Given the description of an element on the screen output the (x, y) to click on. 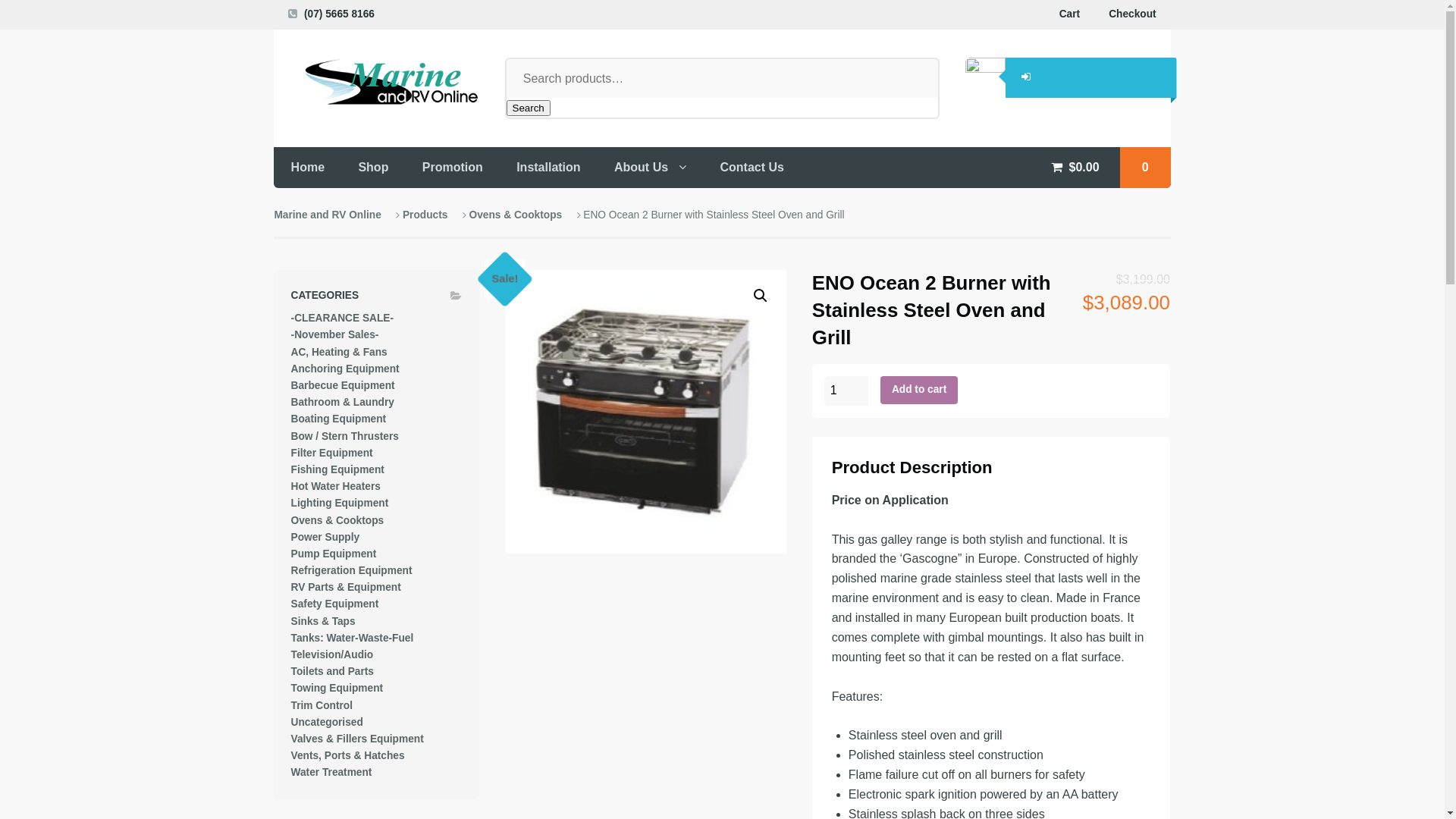
Cart Element type: text (1069, 14)
Valves & Fillers Equipment Element type: text (357, 738)
Toilets and Parts Element type: text (332, 671)
Pump Equipment Element type: text (333, 553)
Contact Us Element type: text (751, 167)
Installation Element type: text (548, 167)
Search Element type: text (528, 108)
Power Supply Element type: text (325, 536)
Uncategorised Element type: text (327, 722)
$0.00
0 Element type: text (1101, 167)
Checkout Element type: text (1132, 14)
About Us Element type: text (649, 167)
Bathroom & Laundry Element type: text (342, 401)
(07) 5665 8166 Element type: text (339, 13)
Bow / Stern Thrusters Element type: text (344, 436)
Refrigeration Equipment Element type: text (351, 570)
Anchoring Equipment Element type: text (345, 368)
Products Element type: text (424, 214)
-CLEARANCE SALE- Element type: text (342, 317)
-November Sales- Element type: text (335, 334)
Eno Ocean 2 Element type: hover (645, 410)
Boating Equipment Element type: text (338, 418)
Vents, Ports & Hatches Element type: text (347, 755)
Marine and RV Online Element type: text (326, 214)
Towing Equipment Element type: text (337, 687)
Home Element type: text (307, 167)
Add to cart Element type: text (918, 390)
Ovens & Cooktops Element type: text (515, 214)
Barbecue Equipment Element type: text (343, 385)
Hot Water Heaters Element type: text (335, 486)
Sinks & Taps Element type: text (323, 621)
AC, Heating & Fans Element type: text (339, 351)
Trim Control Element type: text (321, 705)
Fishing Equipment Element type: text (337, 469)
Safety Equipment Element type: text (335, 603)
Shop Element type: text (372, 167)
Qty Element type: hover (846, 390)
Filter Equipment Element type: text (332, 452)
Ovens & Cooktops Element type: text (337, 520)
Water Treatment Element type: text (331, 772)
RV Parts & Equipment Element type: text (346, 587)
Television/Audio Element type: text (332, 654)
Tanks: Water-Waste-Fuel Element type: text (352, 637)
Promotion Element type: text (452, 167)
Lighting Equipment Element type: text (340, 502)
